Given the description of an element on the screen output the (x, y) to click on. 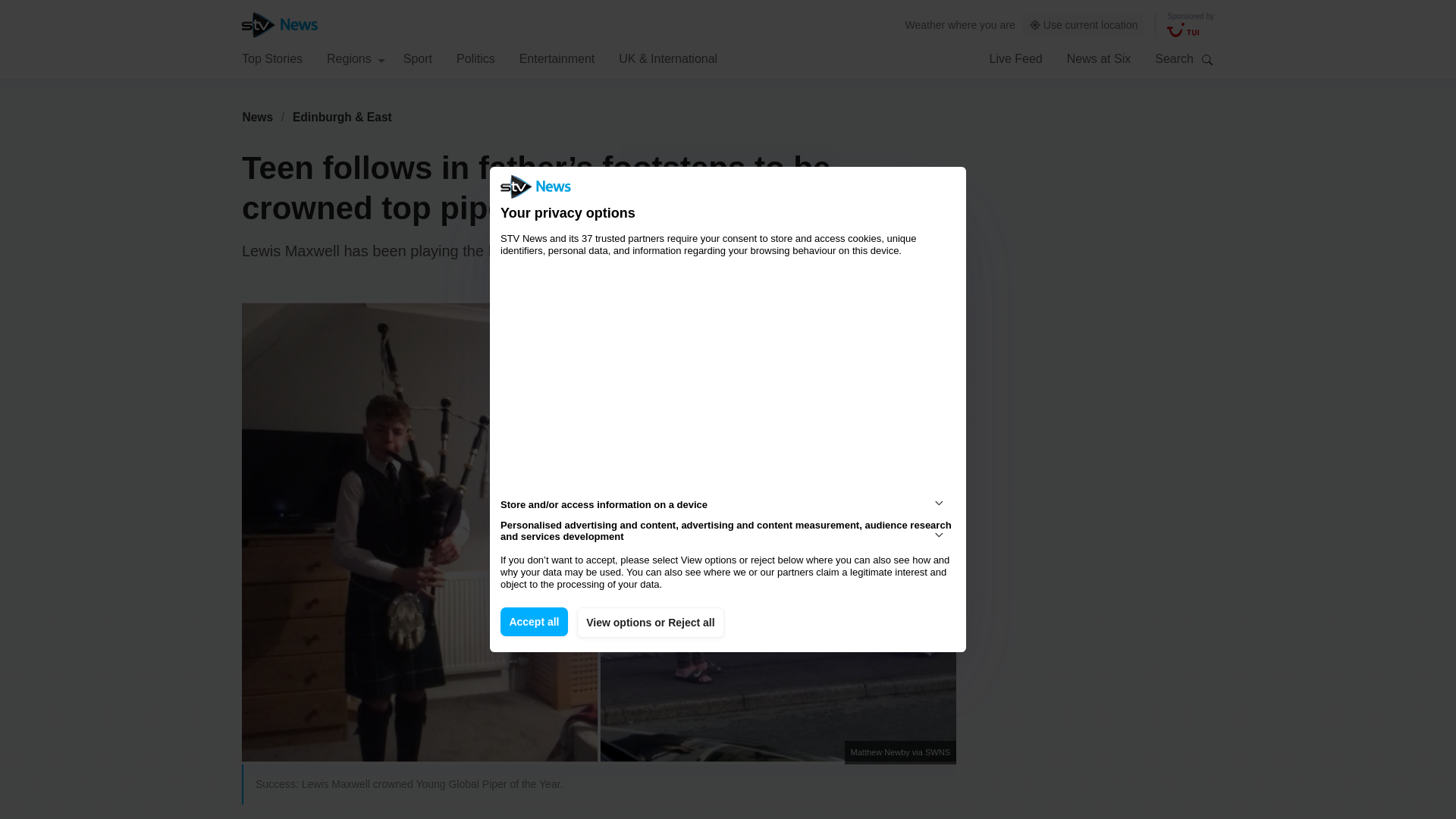
News at Six (1099, 57)
Use current location (1083, 25)
Search (1206, 59)
Live Feed (1015, 57)
Politics (476, 57)
News (257, 116)
Regions (355, 57)
Weather (924, 24)
Top Stories (271, 57)
